Given the description of an element on the screen output the (x, y) to click on. 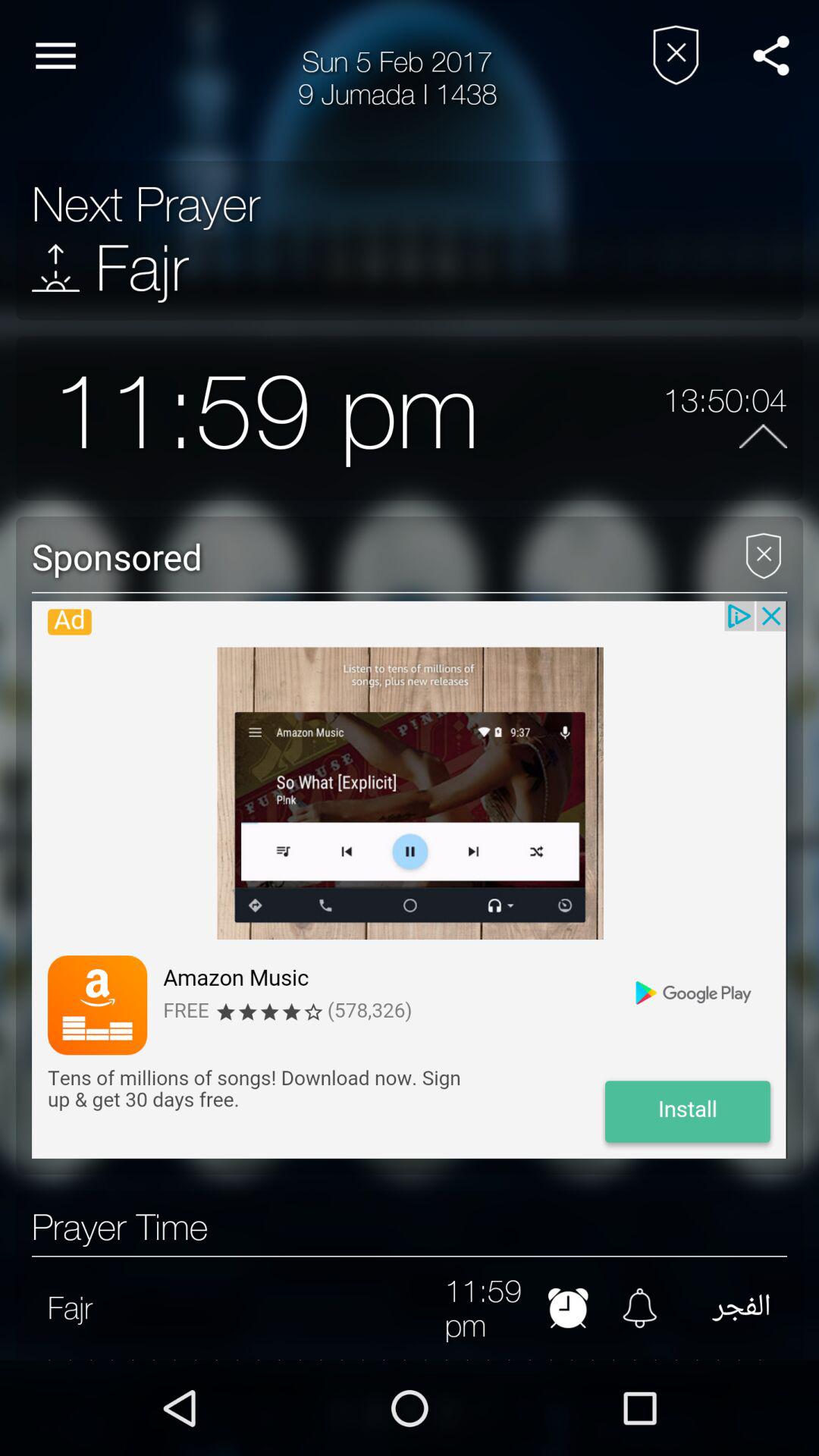
turn off the next prayer item (145, 203)
